Given the description of an element on the screen output the (x, y) to click on. 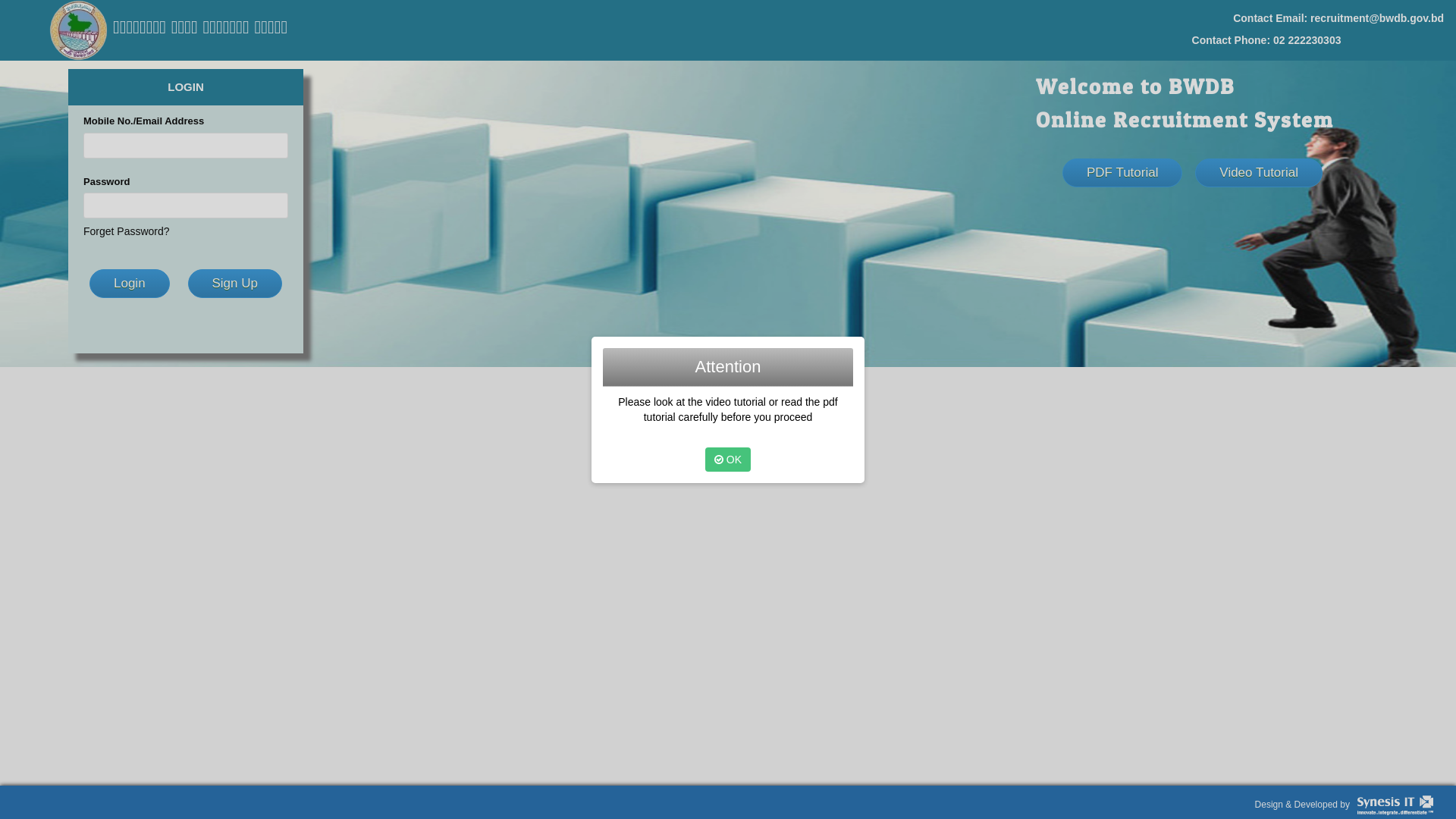
OK Element type: text (727, 459)
recruitment@bwdb.gov.bd Element type: text (1376, 18)
Forget Password? Element type: text (126, 230)
Video Tutorial Element type: text (1258, 172)
Sign Up Element type: text (235, 283)
Login Element type: text (129, 283)
PDF Tutorial Element type: text (1122, 172)
